Given the description of an element on the screen output the (x, y) to click on. 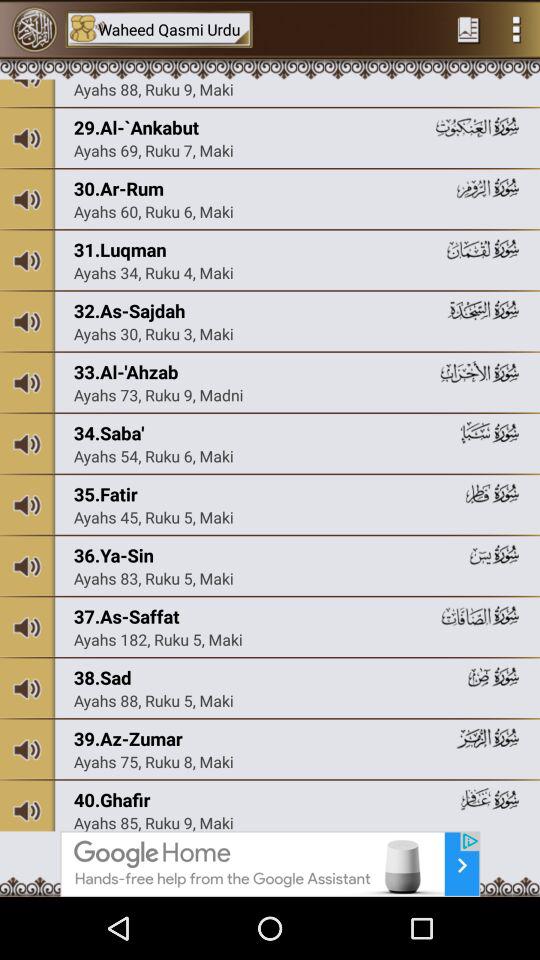
setting and privacy (516, 29)
